Given the description of an element on the screen output the (x, y) to click on. 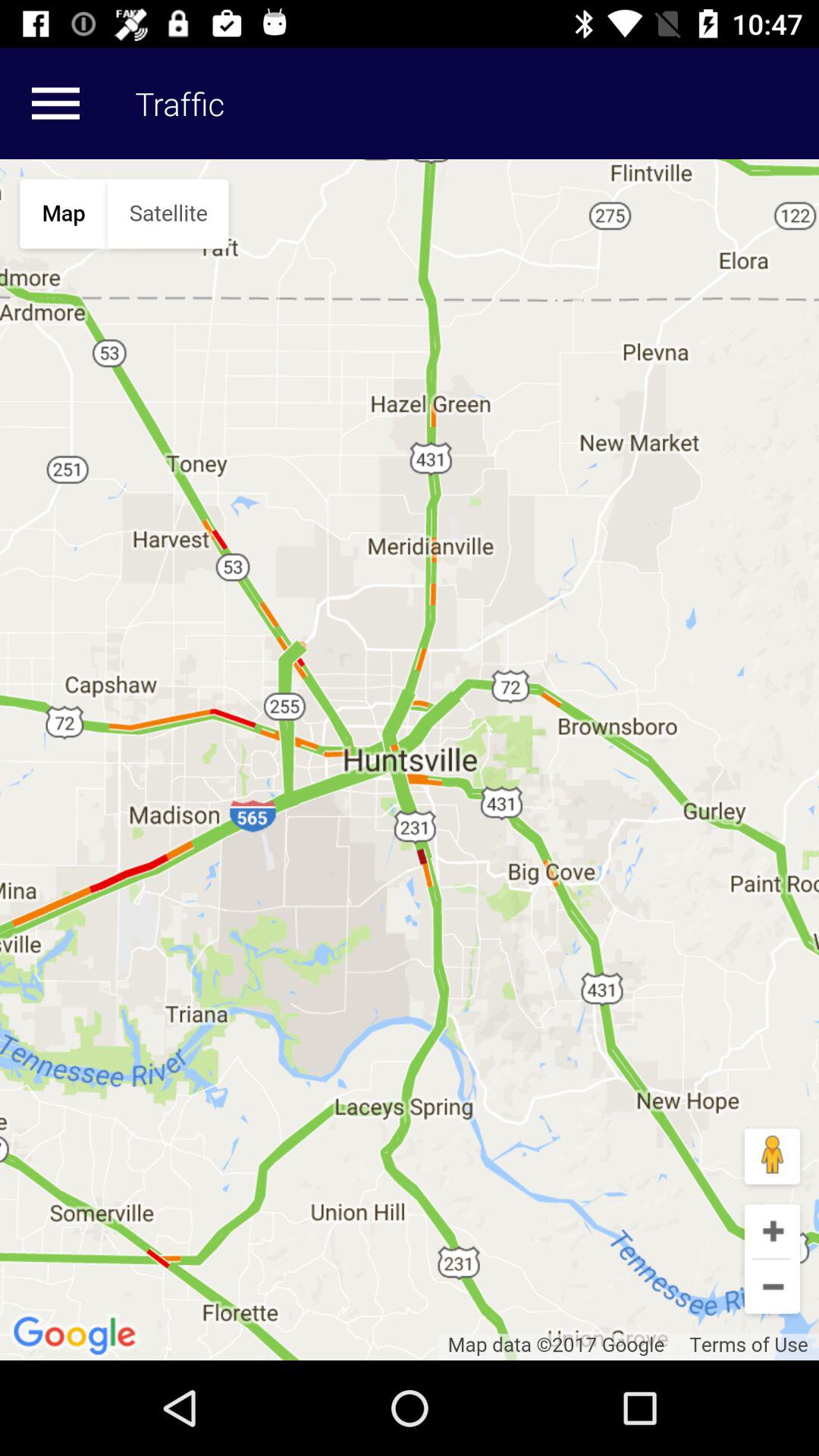
menu button (55, 103)
